Given the description of an element on the screen output the (x, y) to click on. 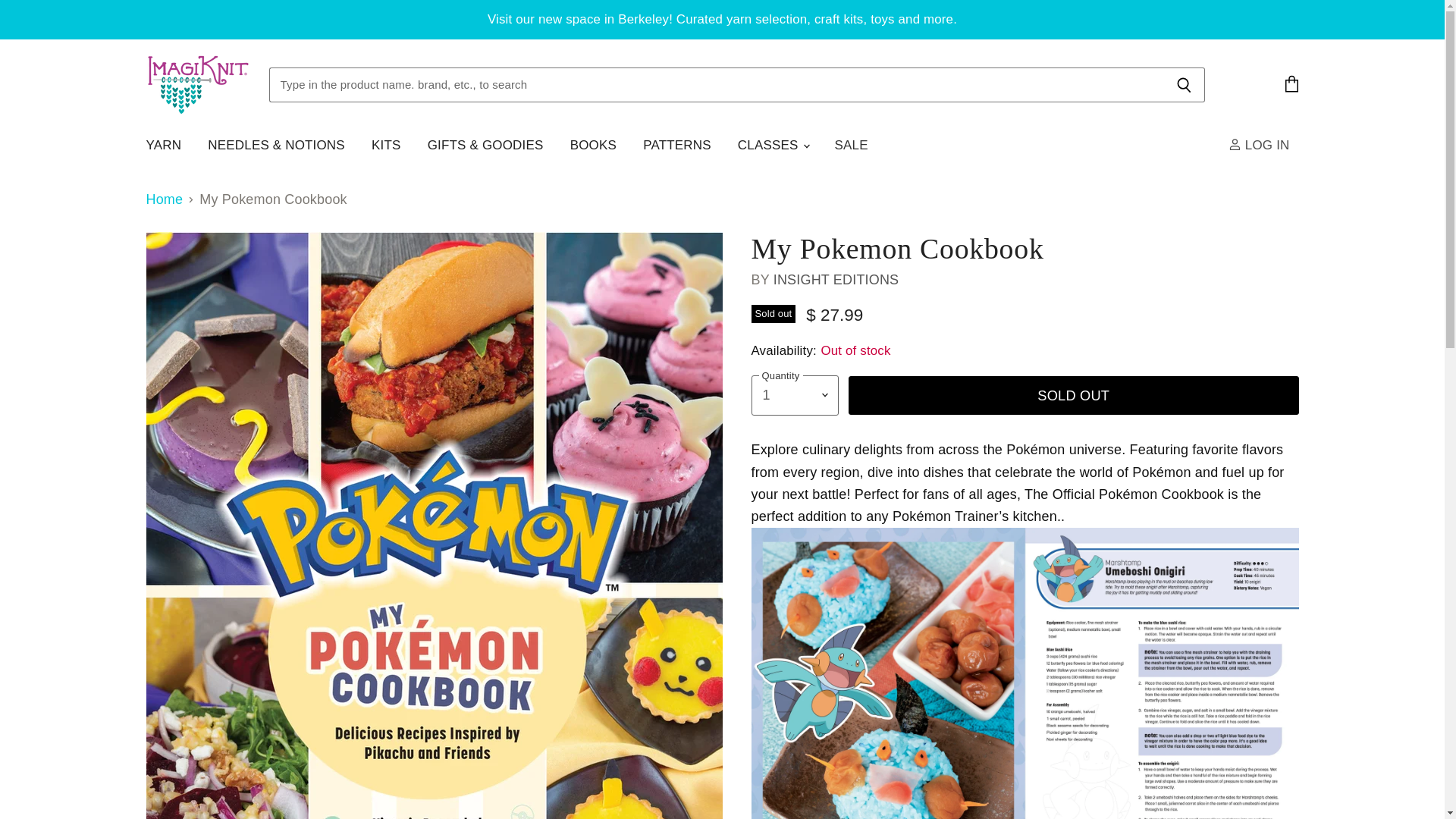
Home (164, 199)
ACCOUNT ICON (1234, 144)
SOLD OUT (1073, 394)
ACCOUNT ICON LOG IN (1261, 145)
KITS (385, 145)
INSIGHT EDITIONS (836, 279)
PATTERNS (676, 145)
CLASSES (772, 145)
SALE (851, 145)
Insight Editions (836, 279)
